Given the description of an element on the screen output the (x, y) to click on. 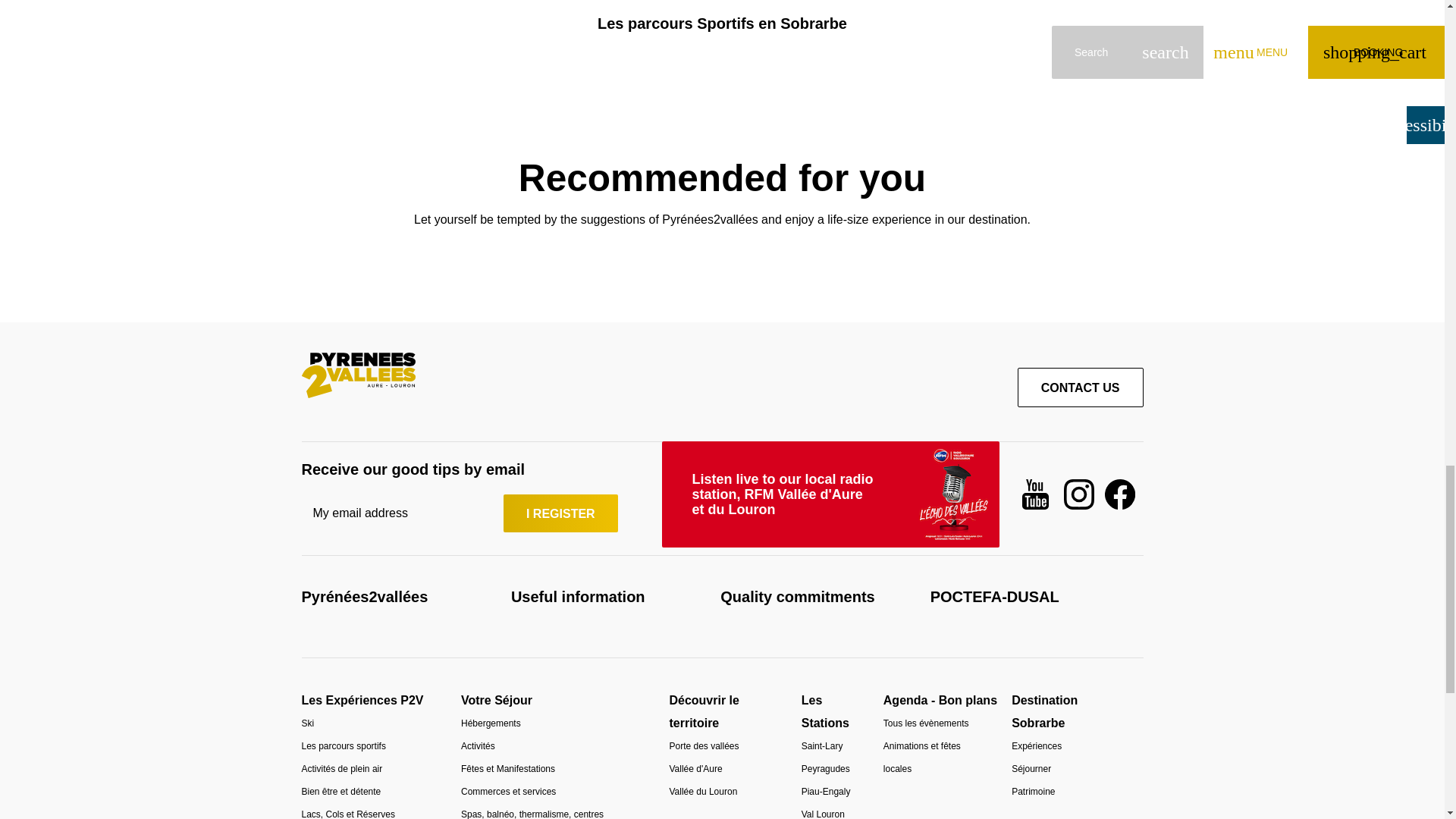
I register (560, 513)
I register (560, 513)
POCTEFA-DUSAL (994, 596)
Useful information (578, 596)
CONTACT US (1079, 387)
Les parcours Sportifs en Sobrarbe (721, 23)
Les parcours sportifs (343, 745)
Quality commitments (797, 596)
